Given the description of an element on the screen output the (x, y) to click on. 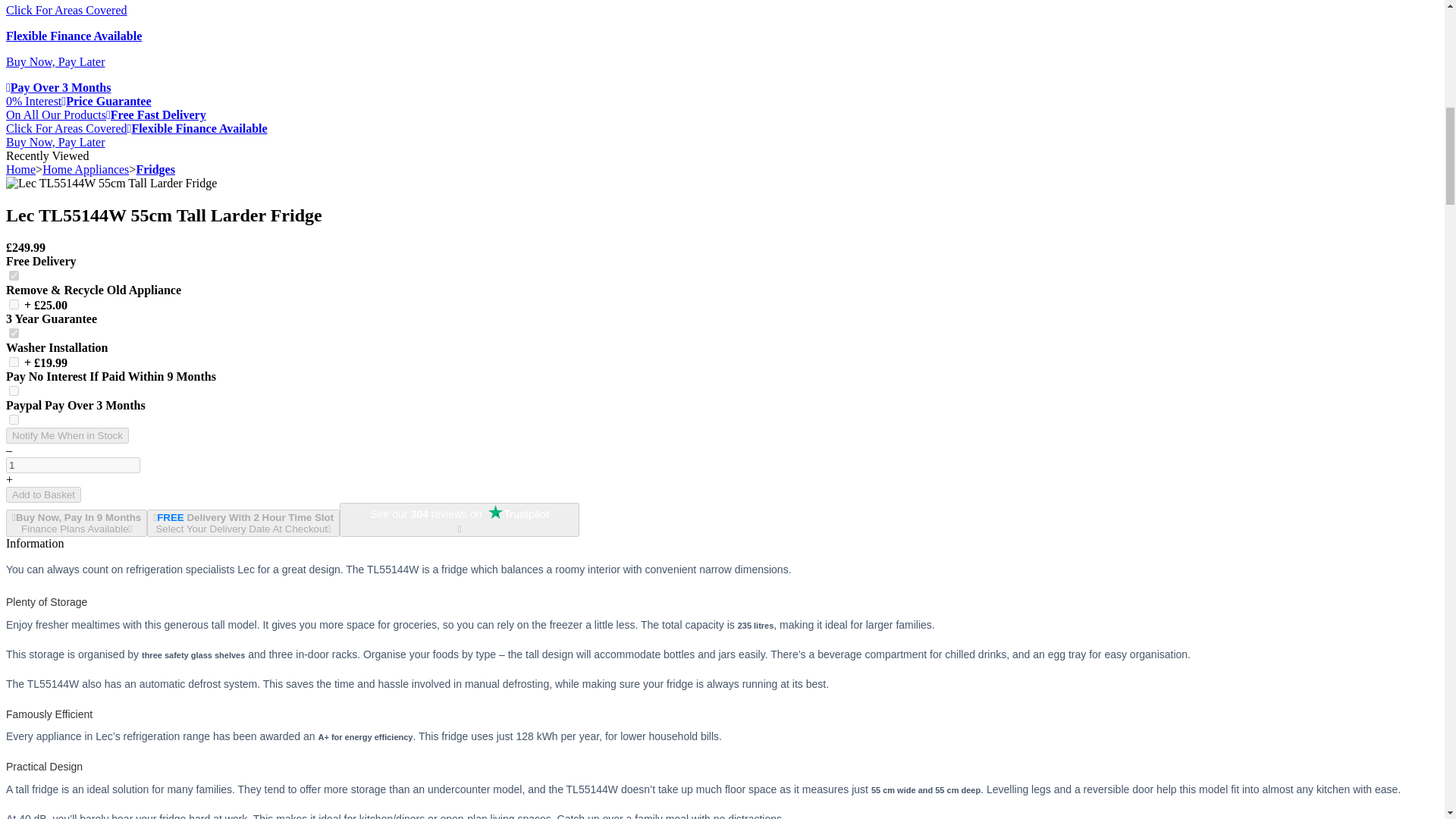
1 (13, 304)
1 (13, 333)
1 (13, 390)
1 (13, 419)
1 (13, 361)
Customer reviews powered by Trustpilot (459, 514)
1 (13, 275)
1 (72, 465)
